Given the description of an element on the screen output the (x, y) to click on. 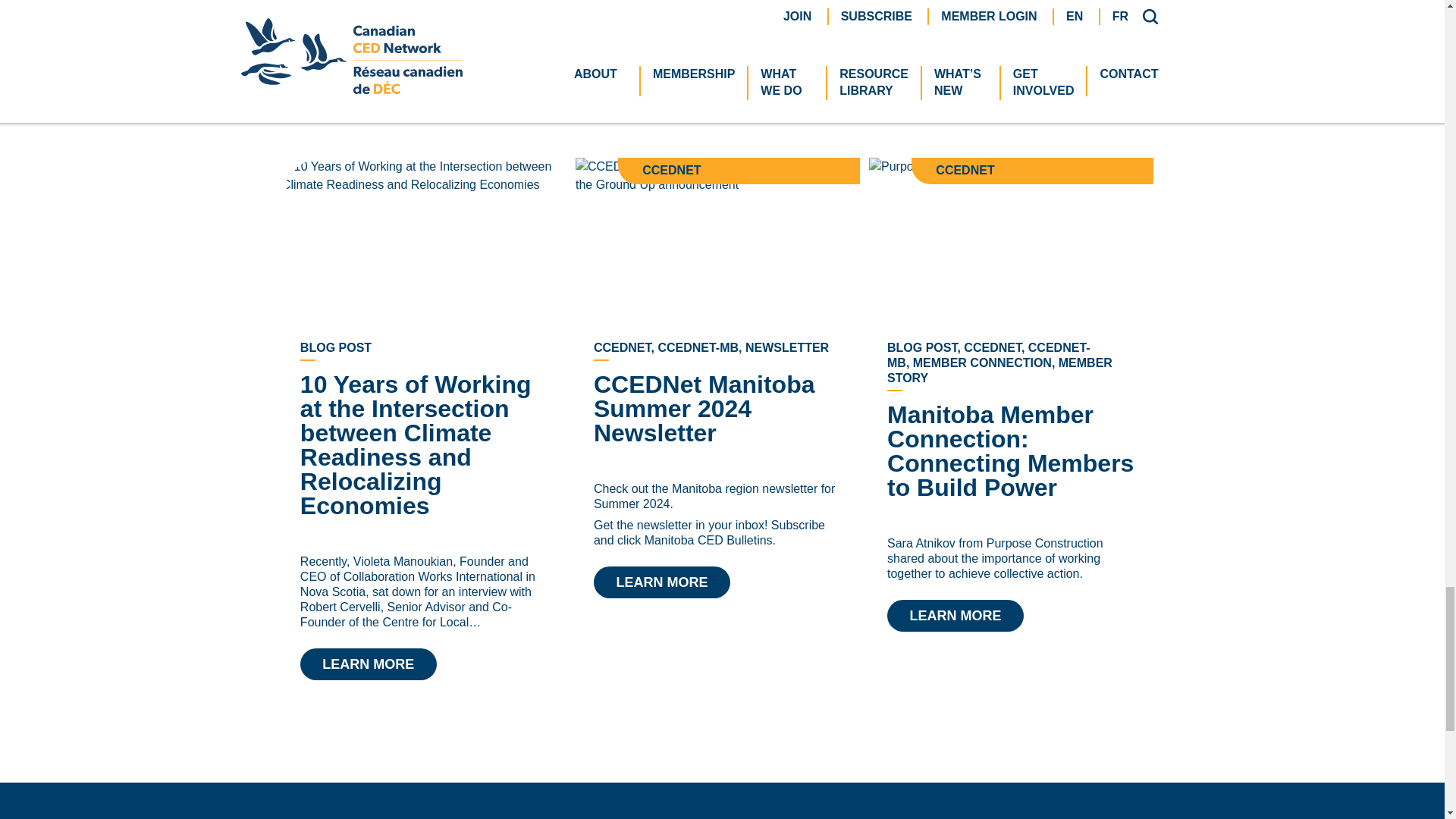
CCEDNet Manitoba Summer 2024 Newsletter (704, 408)
CCEDNet Manitoba Summer 2024 Newsletter (662, 581)
CCEDNet Manitoba Summer 2024 Newsletter (717, 243)
